Given the description of an element on the screen output the (x, y) to click on. 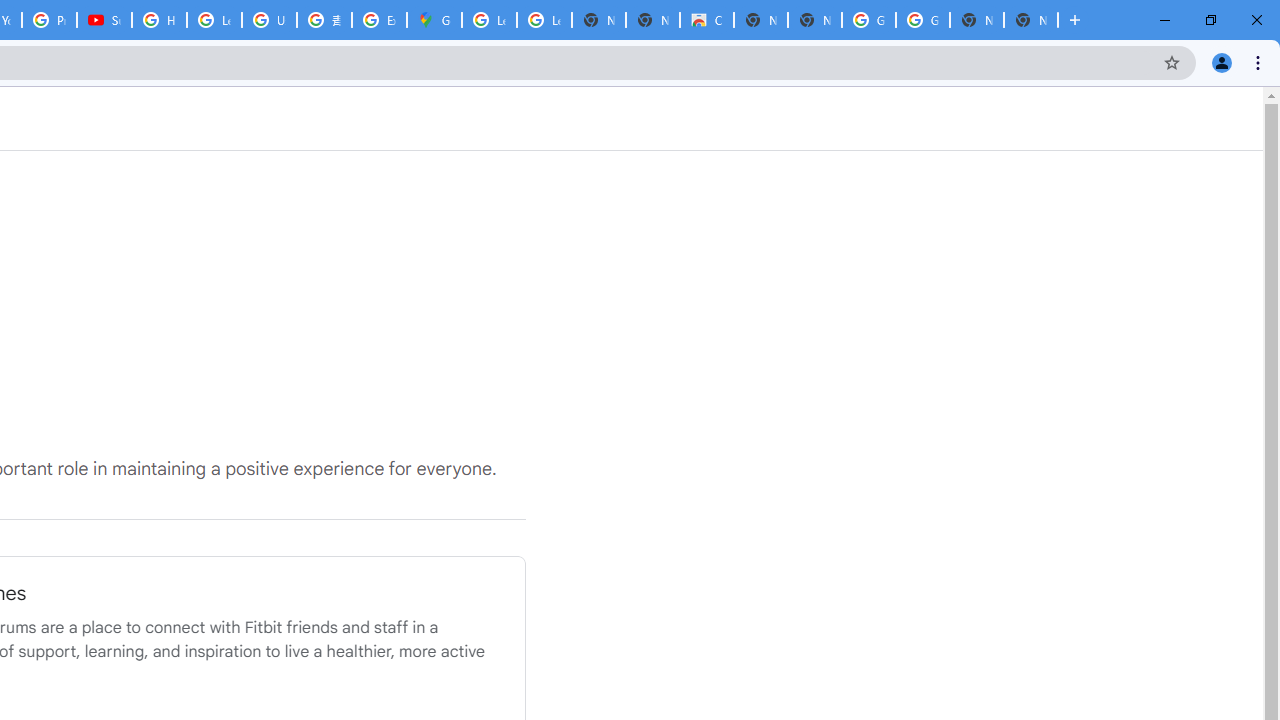
Chrome Web Store (706, 20)
New Tab (1030, 20)
Google Images (868, 20)
Explore new street-level details - Google Maps Help (379, 20)
